Given the description of an element on the screen output the (x, y) to click on. 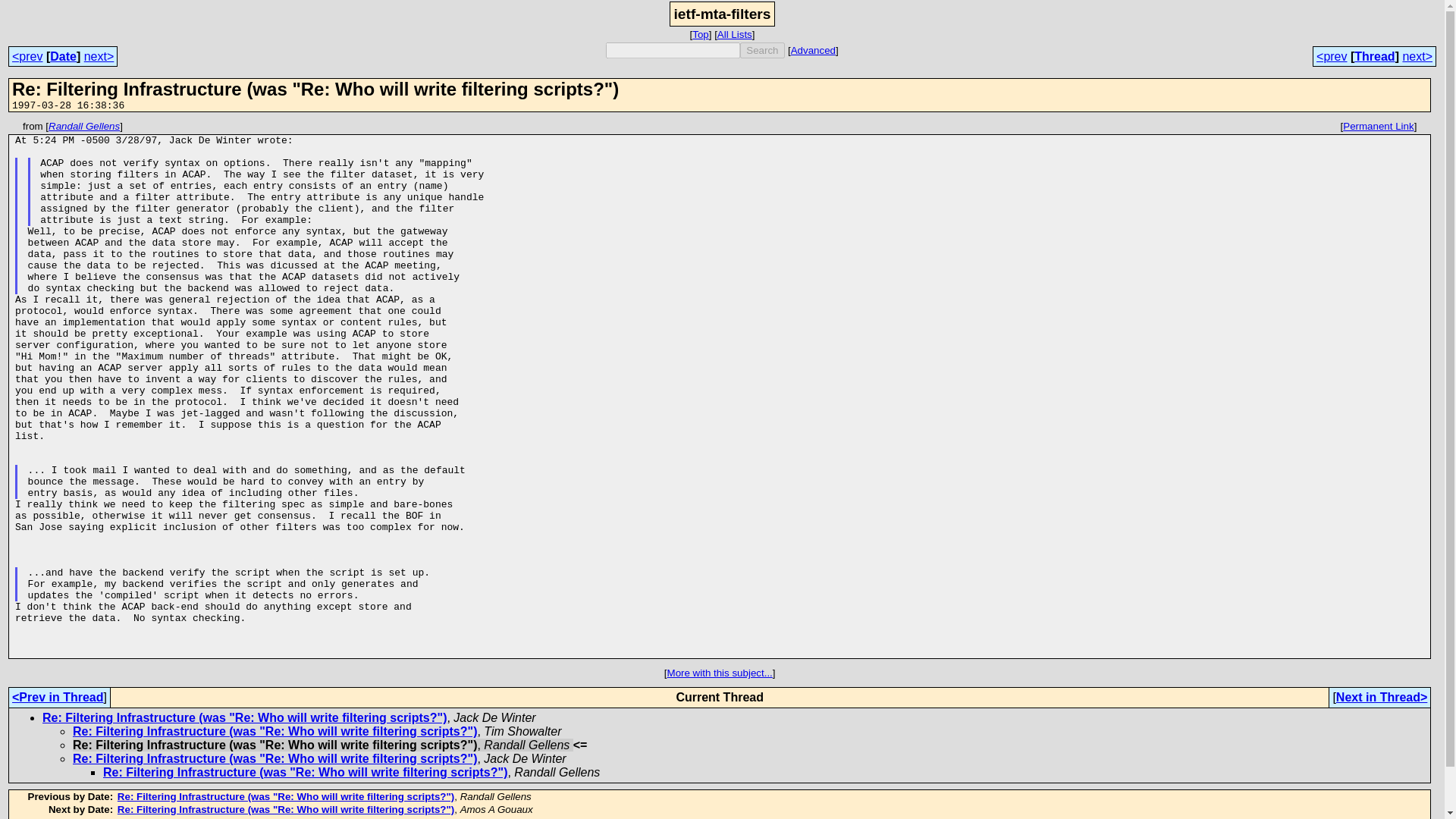
Randall Gellens (83, 125)
Search (761, 50)
Advanced (812, 50)
Date (63, 56)
All Lists (734, 34)
Thread (1374, 56)
Top (701, 34)
Search (761, 50)
More with this subject... (719, 672)
Permanent Link (1377, 125)
